Given the description of an element on the screen output the (x, y) to click on. 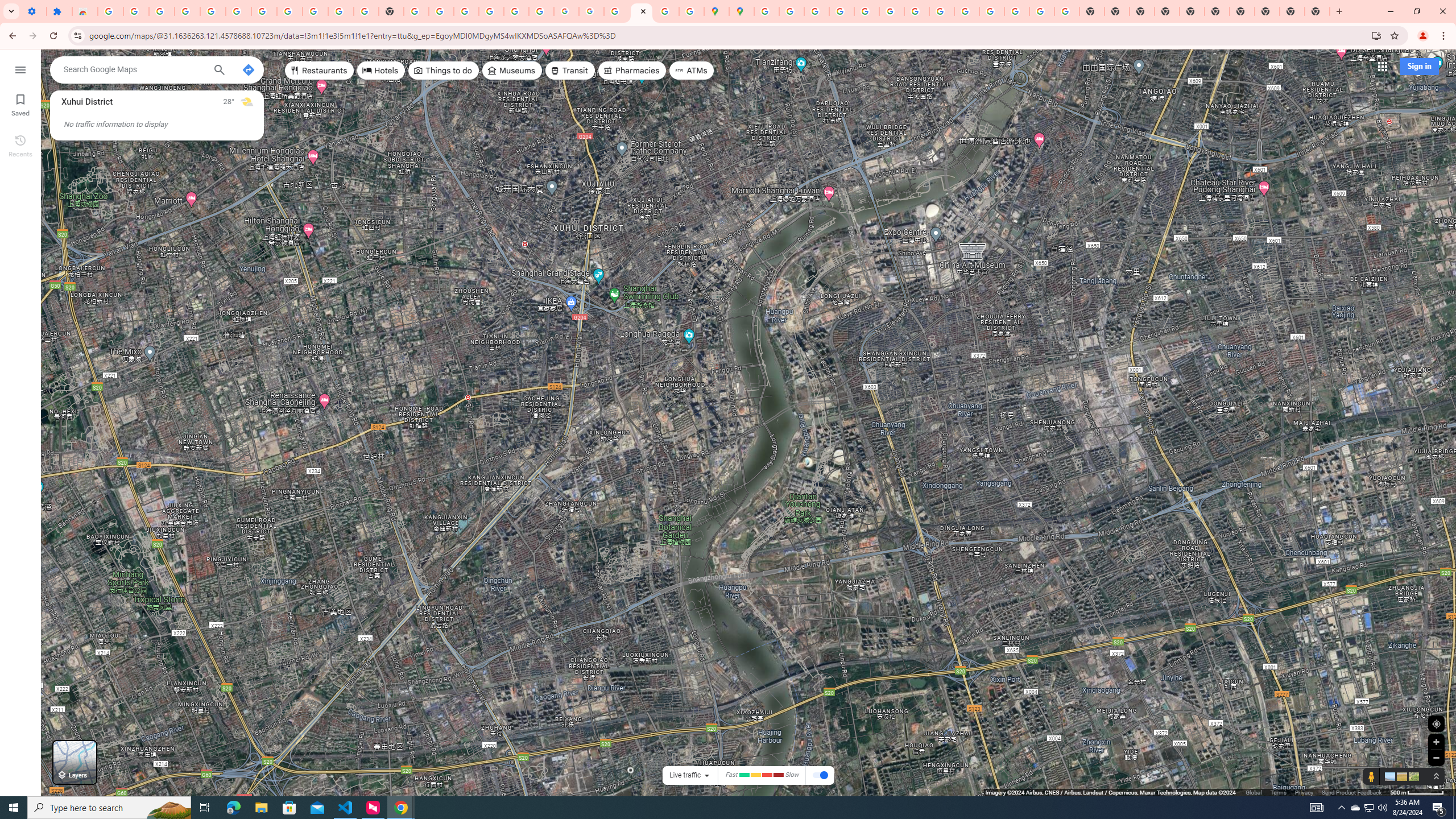
Send Product Feedback (1351, 792)
Install Google Maps (1376, 35)
Partly cloudy (246, 101)
Reviews: Helix Fruit Jump Arcade Game (84, 11)
Learn how to find your photos - Google Photos Help (213, 11)
Pharmacies (632, 70)
Sign in - Google Accounts (110, 11)
 Show traffic  (820, 775)
Zoom in (1436, 741)
